Given the description of an element on the screen output the (x, y) to click on. 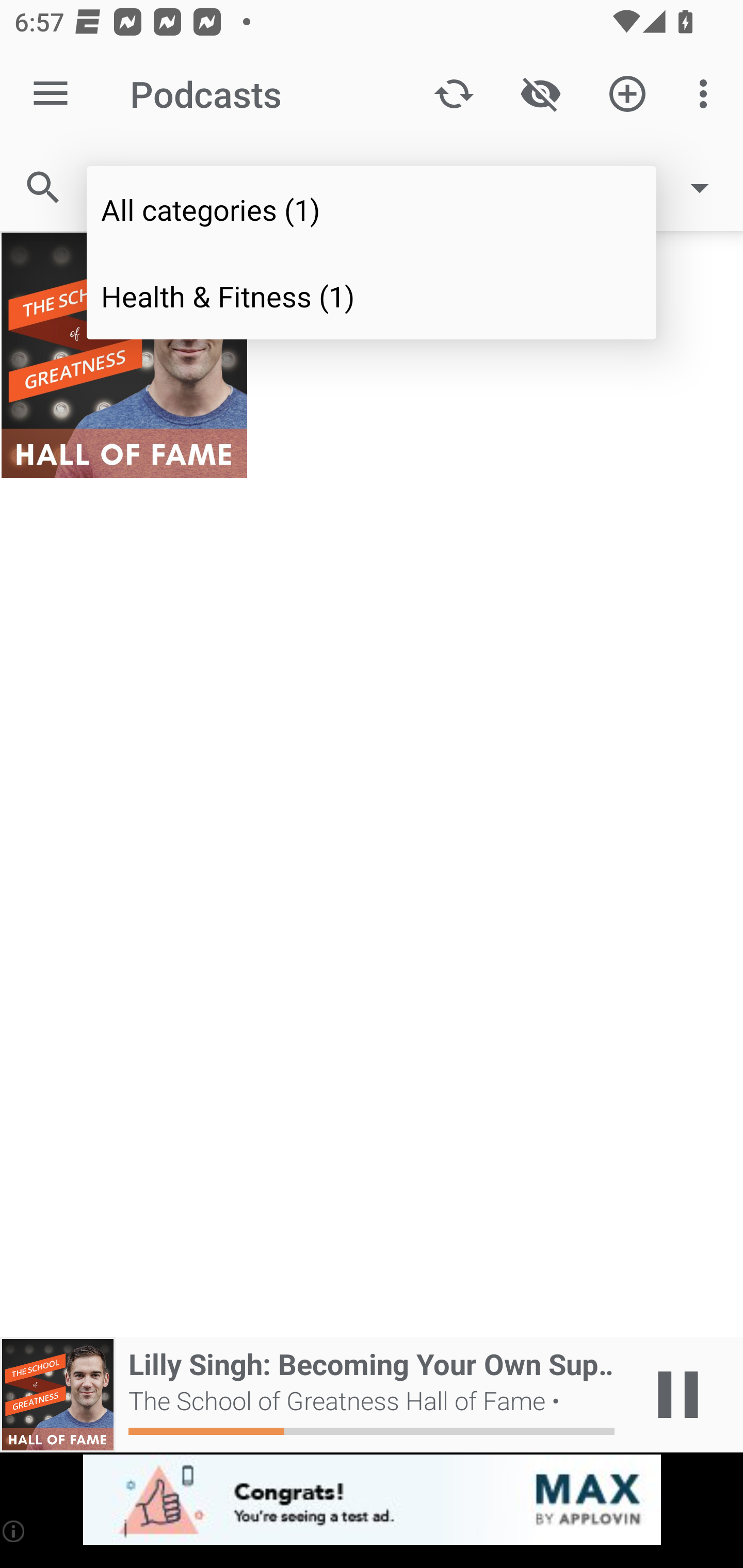
All categories (1) (371, 209)
Health & Fitness (1) (371, 295)
